Given the description of an element on the screen output the (x, y) to click on. 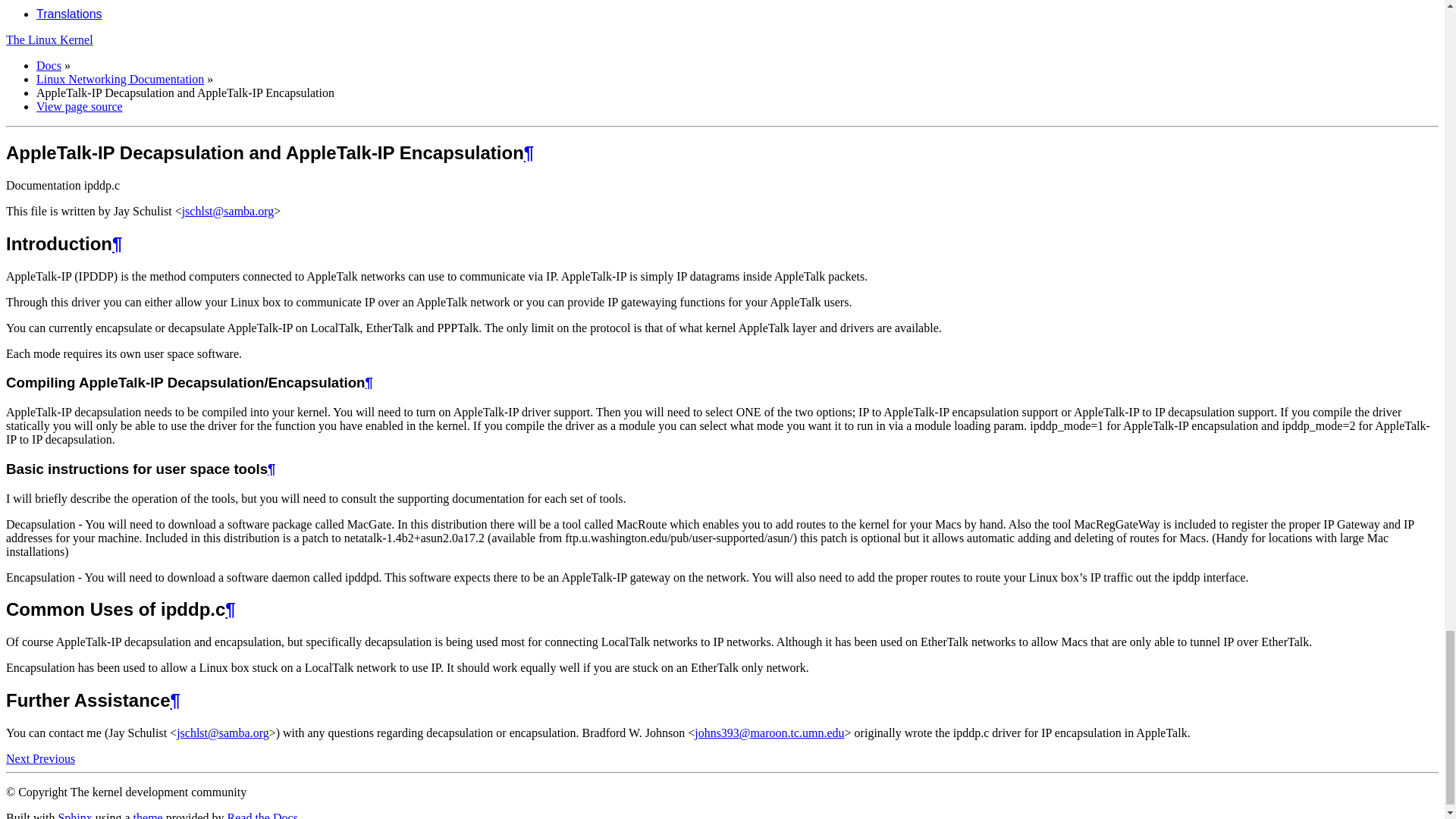
IP dynamic address hack-port v0.03 (18, 758)
